Given the description of an element on the screen output the (x, y) to click on. 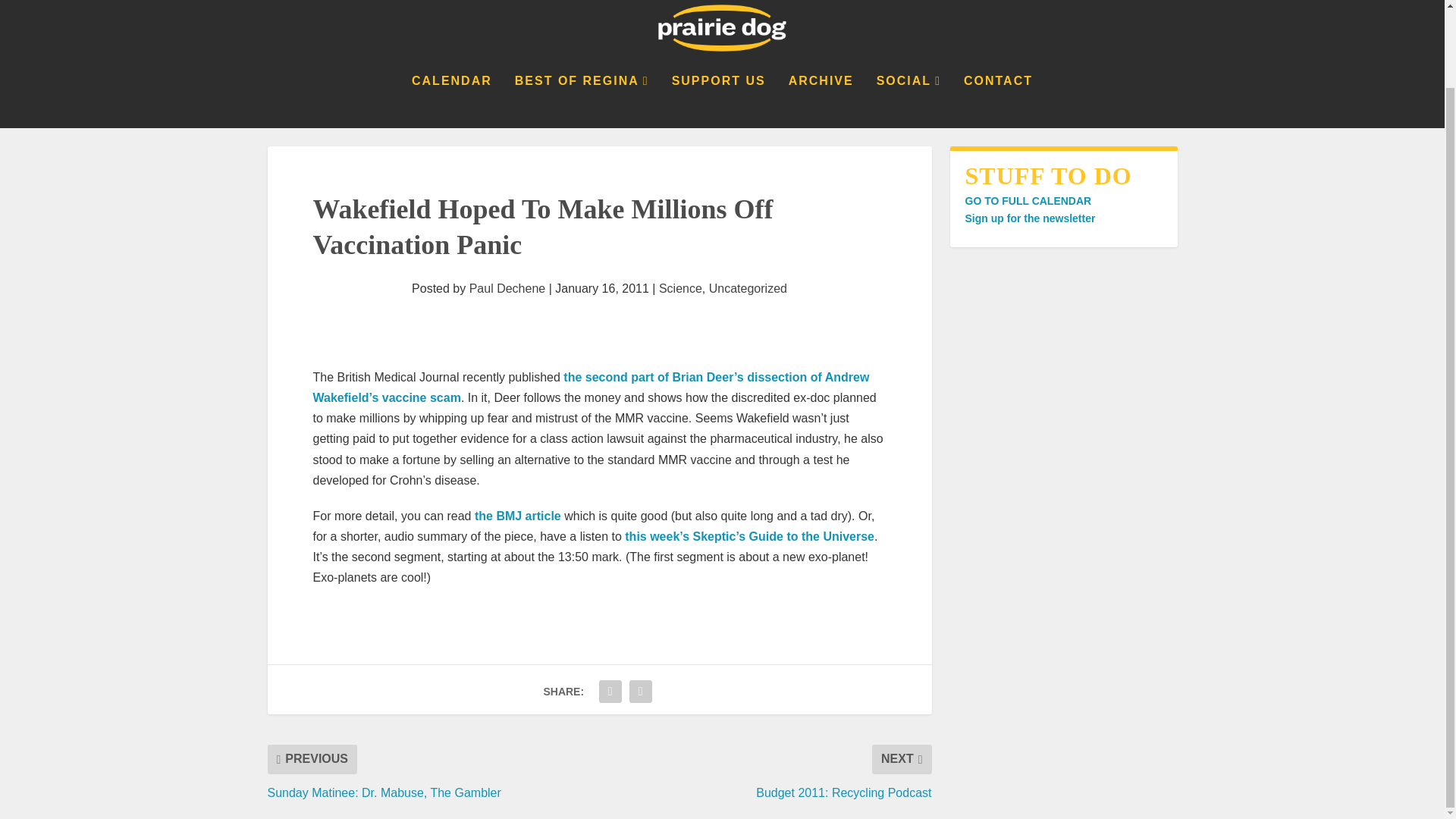
Sign up for the newsletter (1028, 218)
Uncategorized (748, 287)
SOCIAL (908, 101)
ARCHIVE (821, 101)
BEST OF REGINA (582, 101)
CONTACT (997, 101)
Science (680, 287)
Posts by Paul Dechene (507, 287)
CALENDAR (452, 101)
SUPPORT US (718, 101)
GO TO FULL CALENDAR (1026, 200)
the BMJ article (517, 515)
Paul Dechene (507, 287)
